Given the description of an element on the screen output the (x, y) to click on. 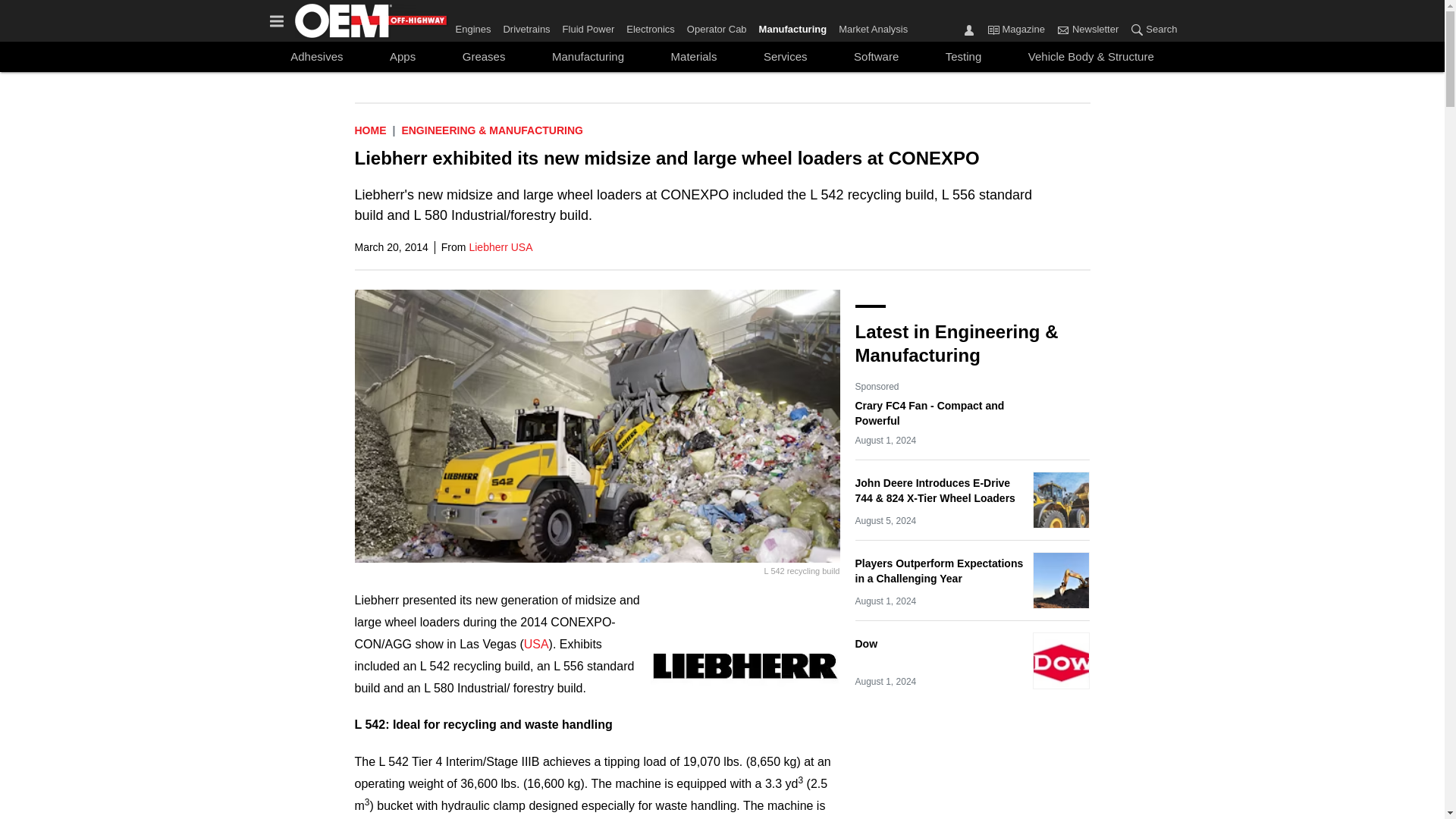
Search (1136, 29)
Drivetrains (526, 26)
Materials (693, 56)
Manufacturing (792, 26)
Software (875, 56)
Adhesives (316, 56)
Engines (475, 26)
Sign In (968, 29)
Magazine (992, 29)
Testing (963, 56)
